Given the description of an element on the screen output the (x, y) to click on. 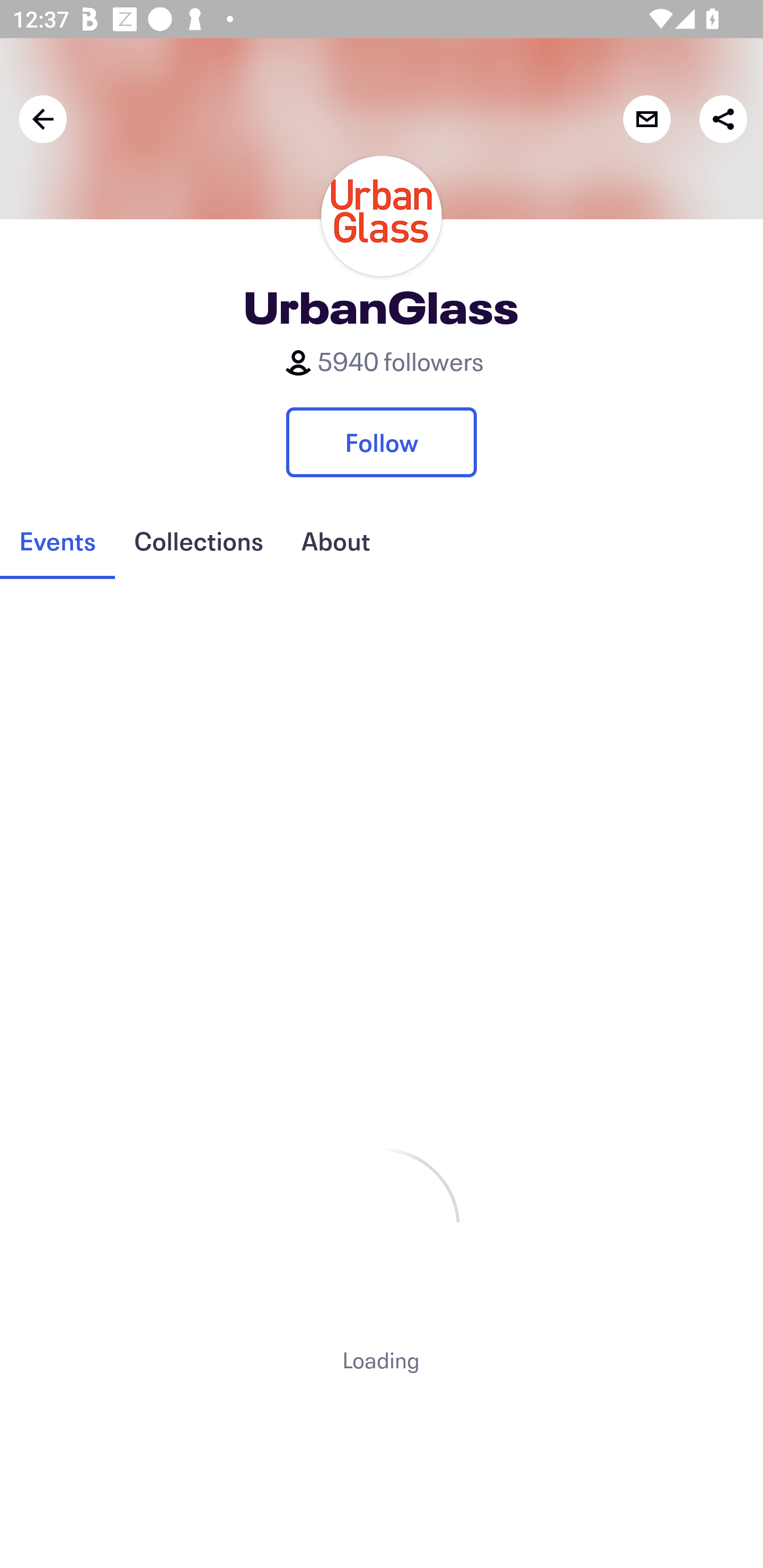
Back navigation arrow (43, 118)
Contact organizer (646, 118)
Share with friends (722, 118)
Follow (381, 441)
Collections (198, 540)
About (335, 540)
